Given the description of an element on the screen output the (x, y) to click on. 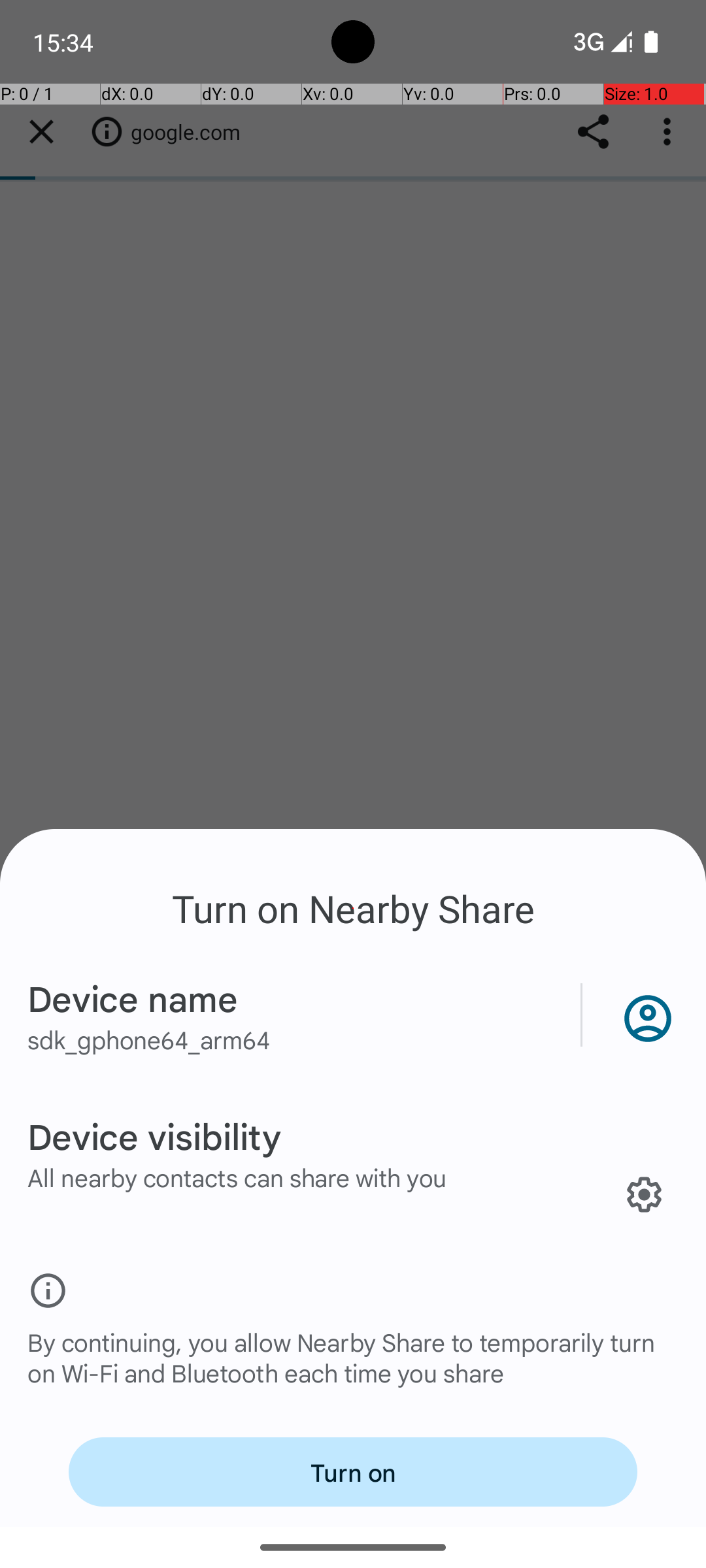
Turn on Nearby Share Element type: android.widget.TextView (353, 908)
No account found Element type: android.widget.FrameLayout (644, 1014)
By continuing, you allow Nearby Share to temporarily turn on Wi-Fi and Bluetooth each time you share Element type: android.widget.TextView (353, 1370)
Turn on Element type: android.widget.Button (352, 1471)
Device name Element type: android.widget.TextView (132, 997)
sdk_gphone64_arm64 Element type: android.widget.TextView (148, 1039)
Device visibility Element type: android.widget.TextView (154, 1135)
All nearby contacts can share with you Element type: android.widget.TextView (237, 1177)
